Given the description of an element on the screen output the (x, y) to click on. 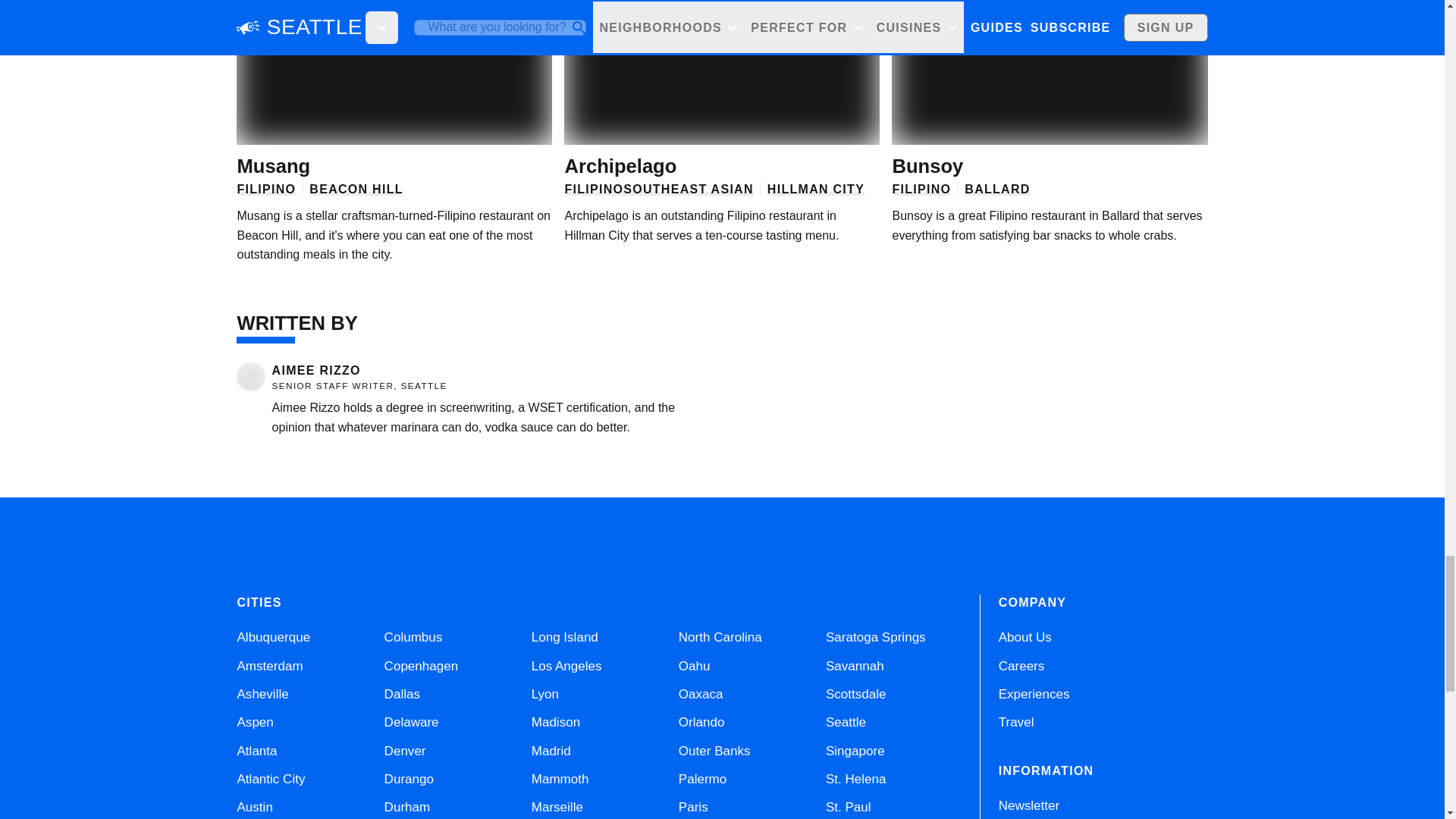
Archipelago (620, 165)
Musang (272, 165)
FILIPINO (265, 188)
FILIPINO (593, 188)
BEACON HILL (355, 188)
